Given the description of an element on the screen output the (x, y) to click on. 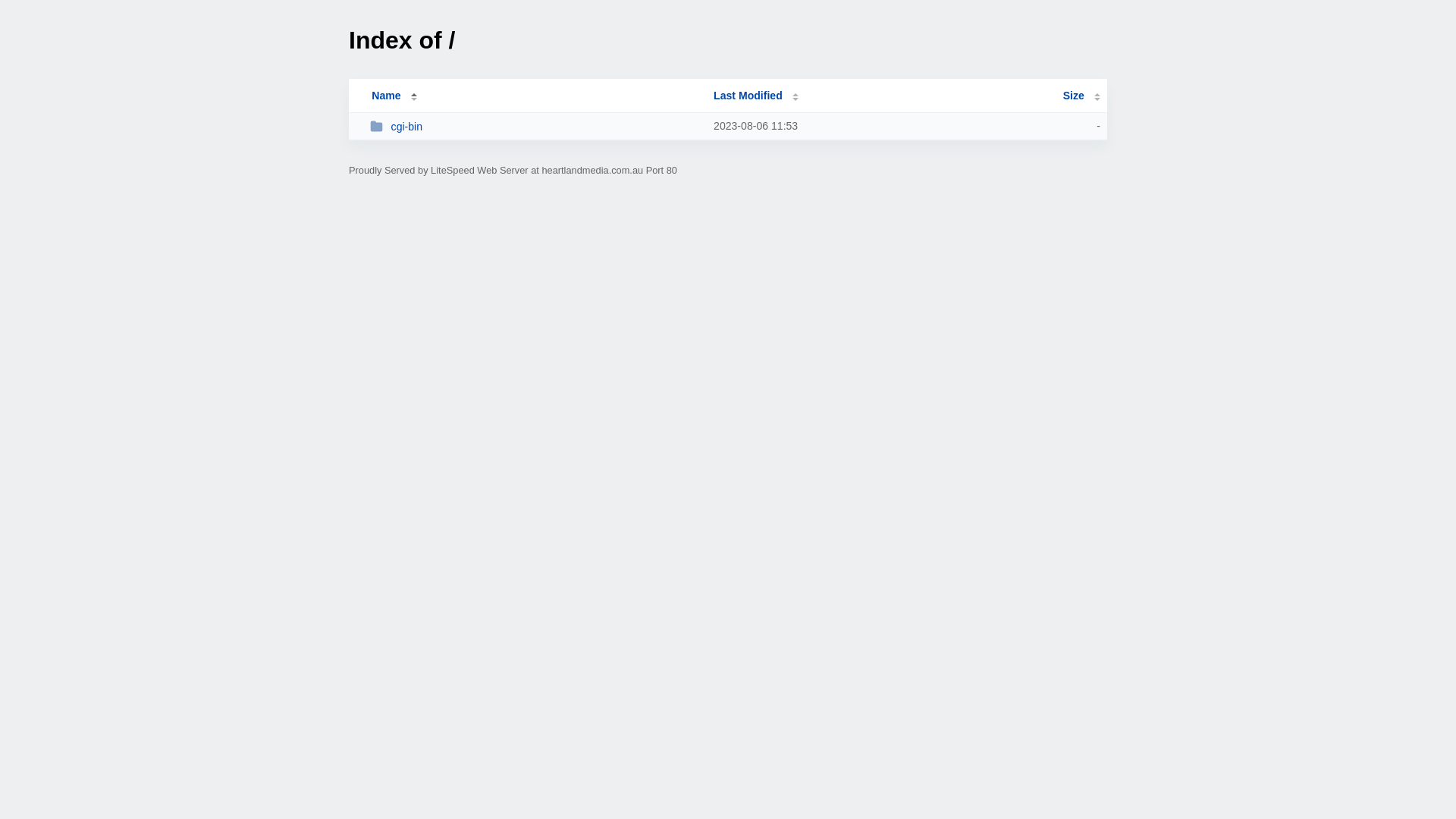
Size Element type: text (1081, 95)
Name Element type: text (385, 95)
Last Modified Element type: text (755, 95)
cgi-bin Element type: text (534, 125)
